Given the description of an element on the screen output the (x, y) to click on. 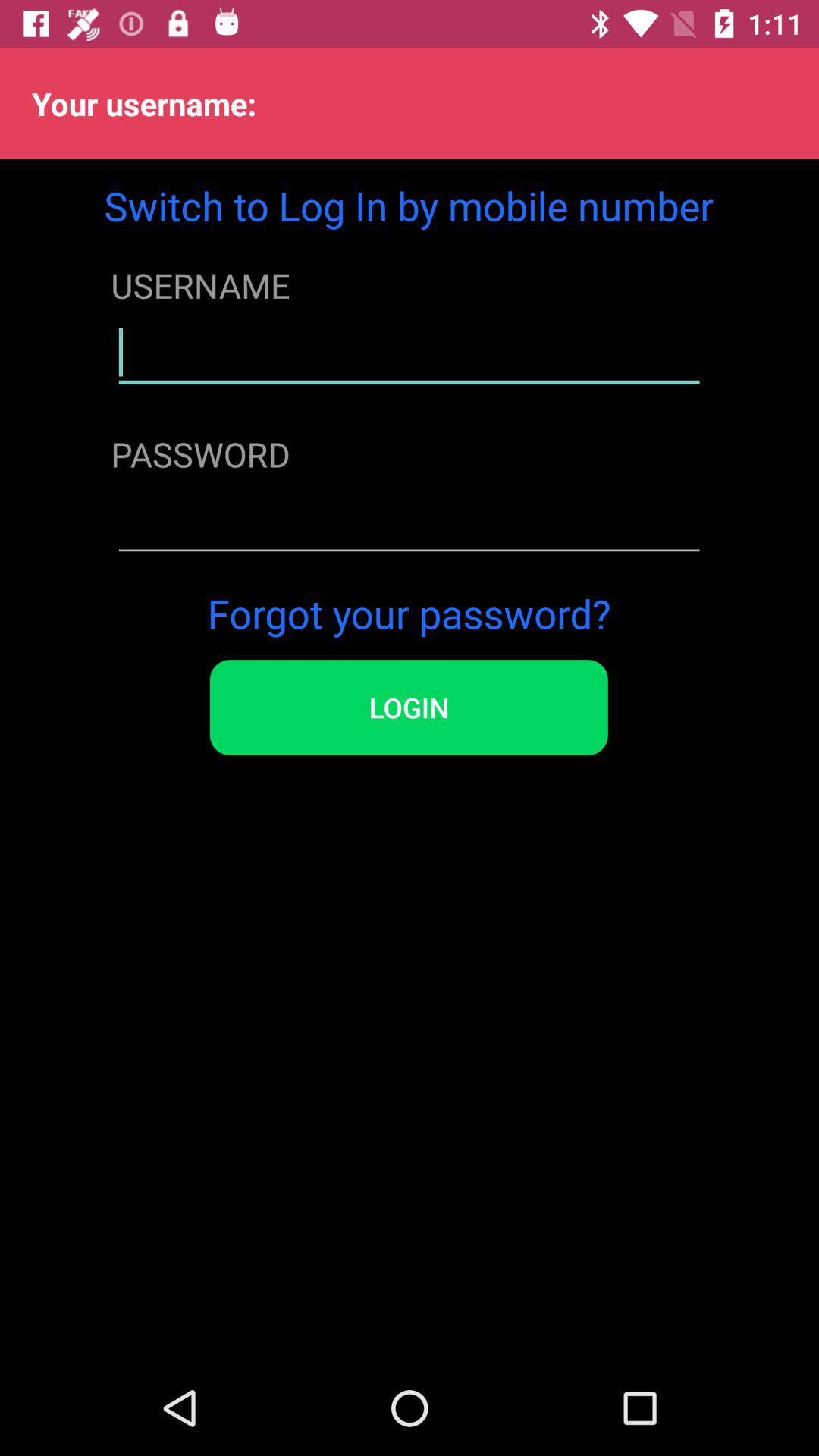
open switch to log icon (408, 205)
